Given the description of an element on the screen output the (x, y) to click on. 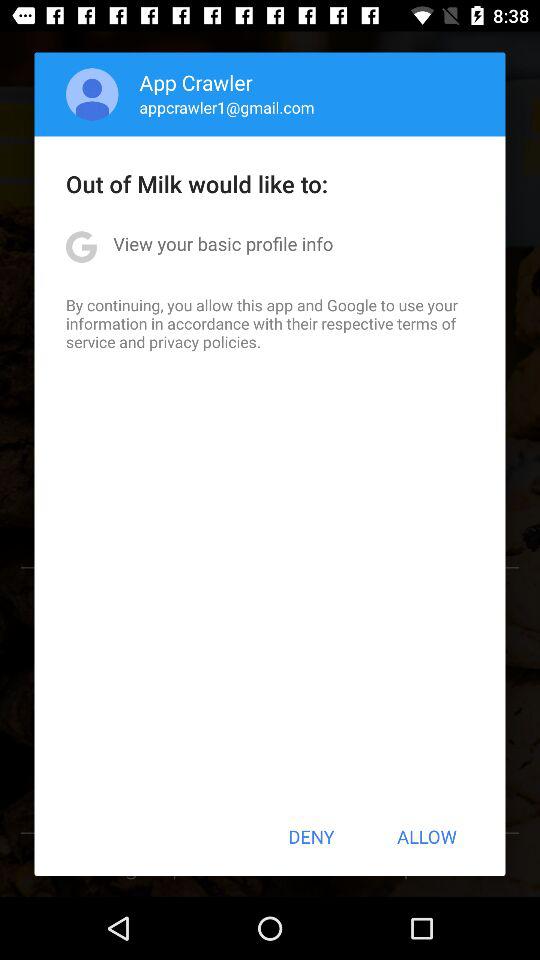
turn off item to the left of app crawler (92, 94)
